Given the description of an element on the screen output the (x, y) to click on. 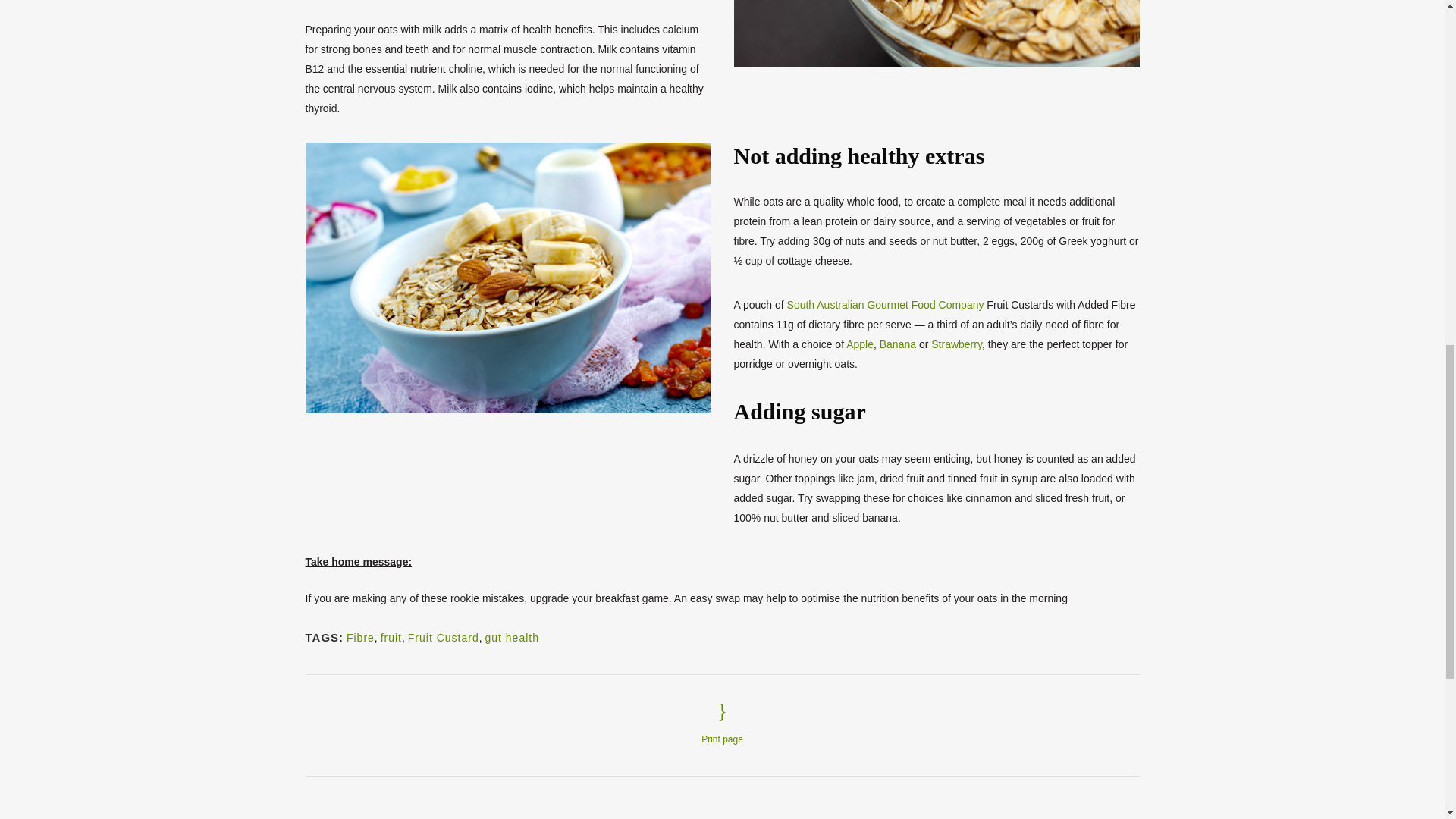
fruit (390, 637)
Strawberry (956, 344)
Fruit Custard (443, 637)
Fibre (360, 637)
Apple (859, 344)
South Australian Gourmet Food Company (885, 304)
gut health (511, 637)
Banana (897, 344)
